Given the description of an element on the screen output the (x, y) to click on. 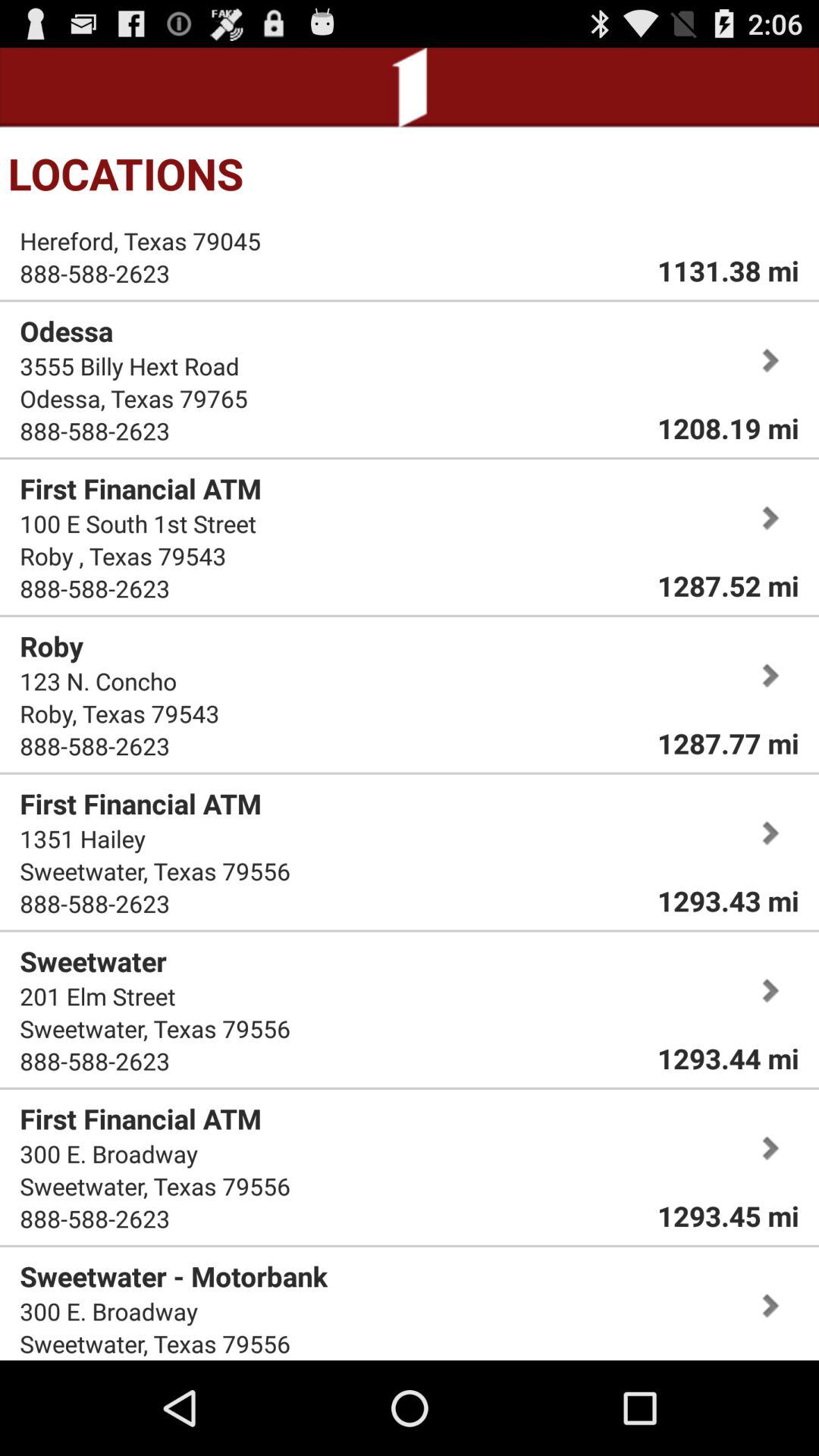
choose the item below locations (728, 270)
